Given the description of an element on the screen output the (x, y) to click on. 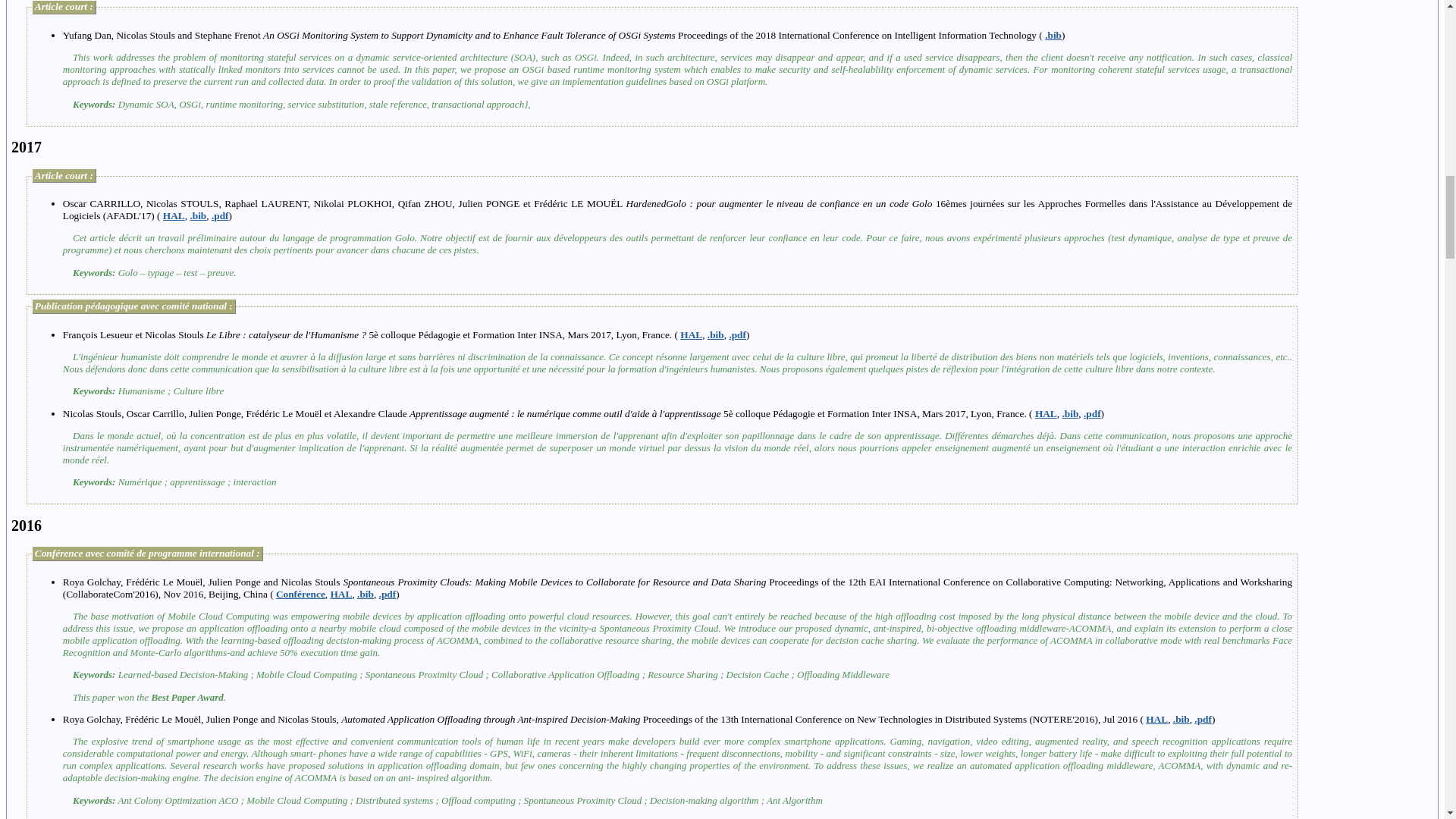
.bib (1053, 34)
HAL (173, 215)
